Given the description of an element on the screen output the (x, y) to click on. 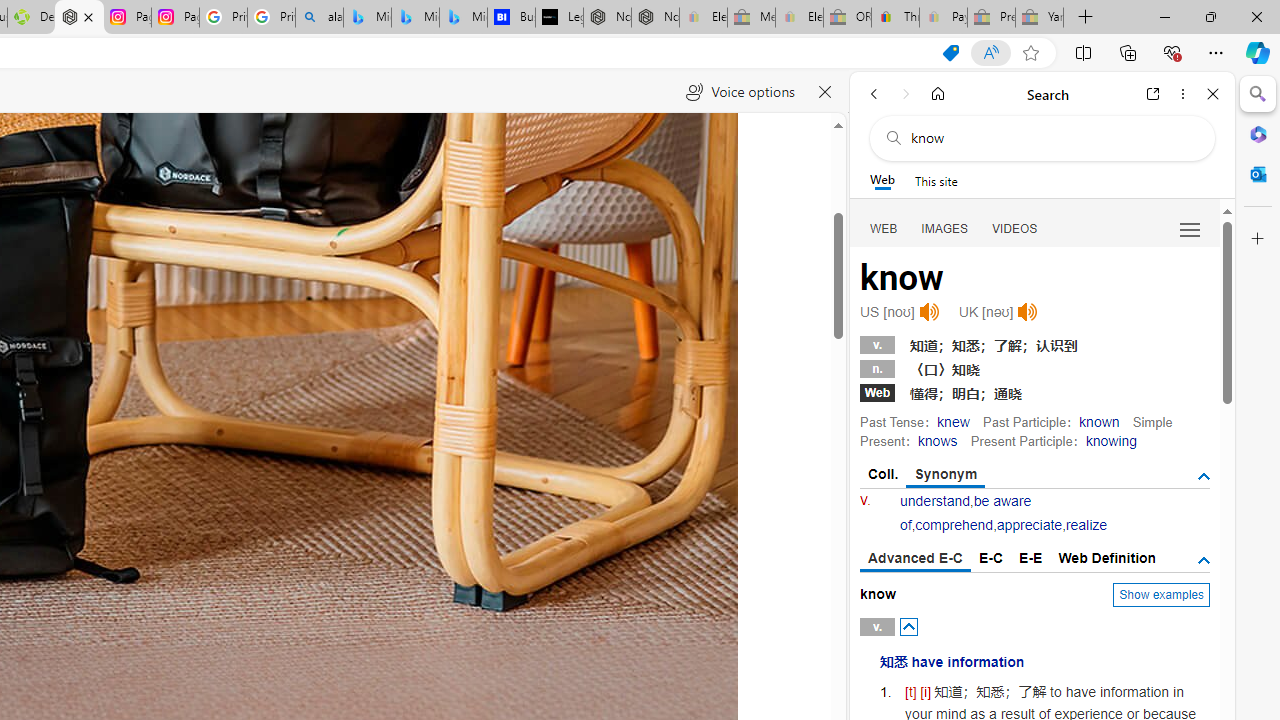
E-E (1030, 557)
E-C (991, 557)
Microsoft Bing Travel - Flights from Hong Kong to Bangkok (367, 17)
Voice options (740, 92)
Web Definition (1106, 557)
Microsoft Bing Travel - Shangri-La Hotel Bangkok (463, 17)
